Given the description of an element on the screen output the (x, y) to click on. 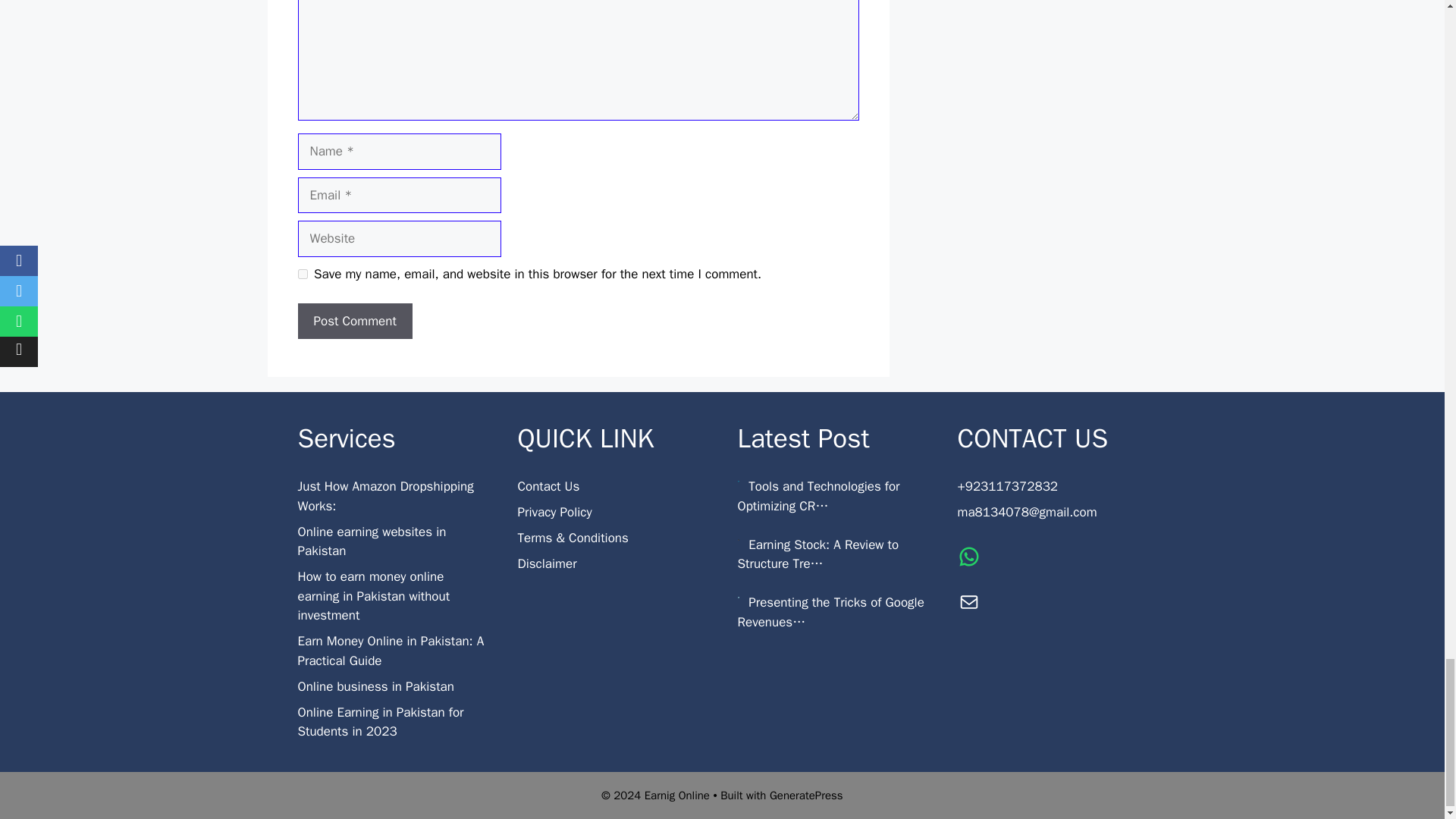
Post Comment (354, 321)
yes (302, 274)
